Given the description of an element on the screen output the (x, y) to click on. 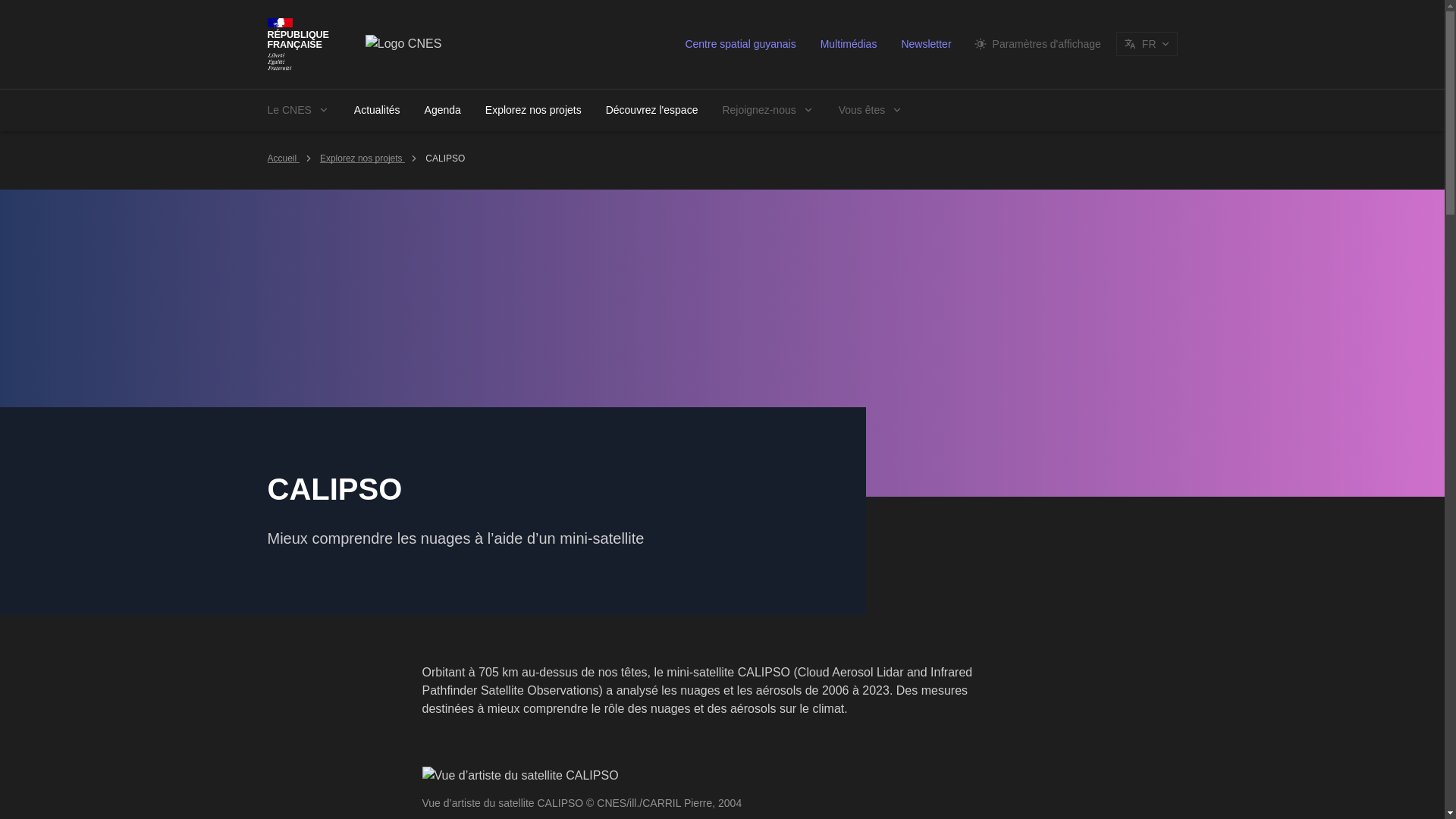
Explorez nos projets (533, 108)
CALIPSO (444, 158)
Le CNES (297, 108)
Logo CNES (403, 43)
Centre spatial guyanais (740, 43)
Rejoignez-nous (767, 108)
FR (1146, 43)
Agenda (442, 108)
Accueil (282, 158)
Newsletter (925, 43)
